Given the description of an element on the screen output the (x, y) to click on. 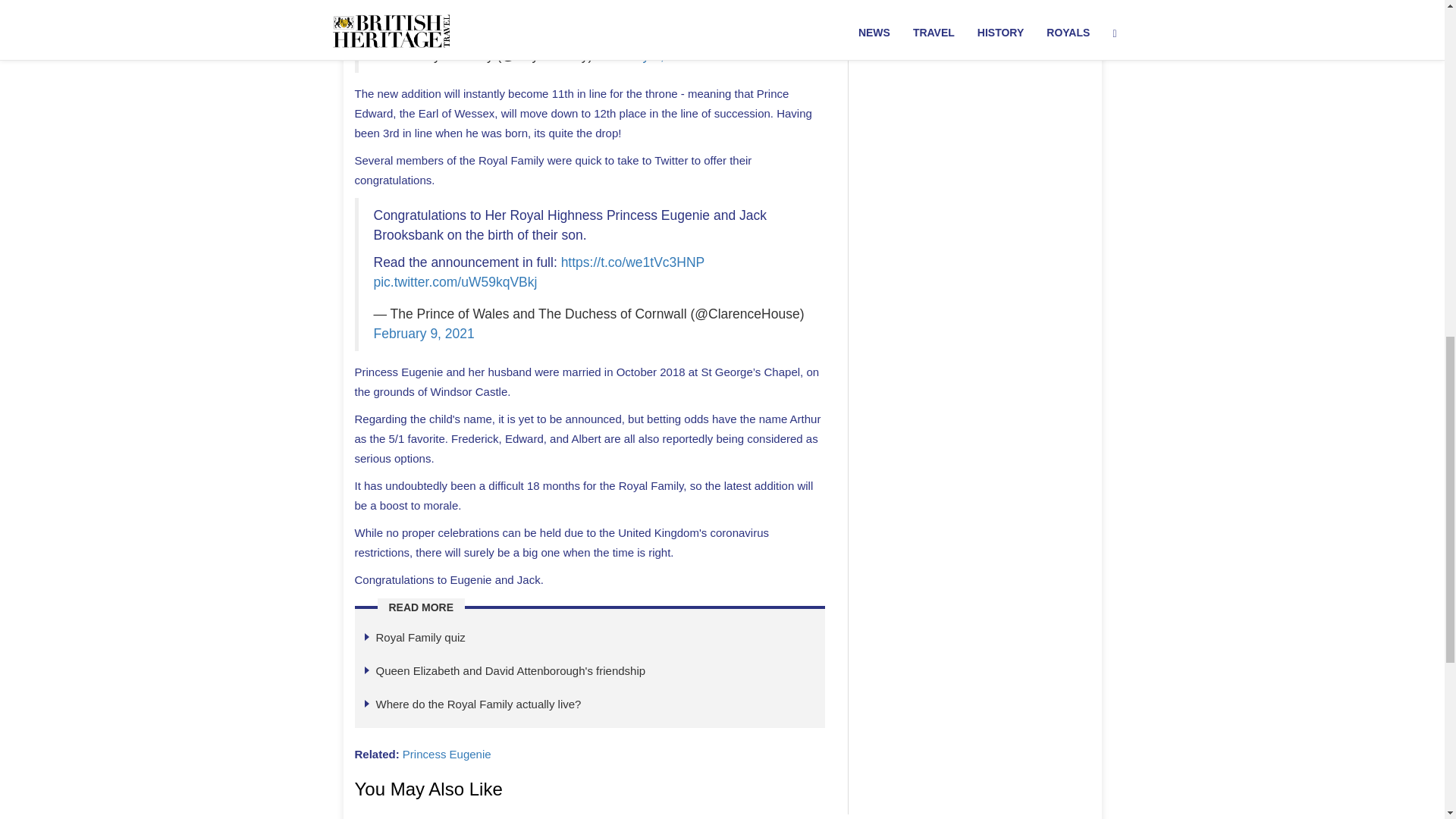
Where do the Royal Family actually live? (477, 703)
Queen Elizabeth and David Attenborough's friendship (510, 670)
Princess Eugenie (447, 753)
February 9, 2021 (423, 333)
Royal Family quiz (420, 636)
February 9, 2021 (646, 55)
